Given the description of an element on the screen output the (x, y) to click on. 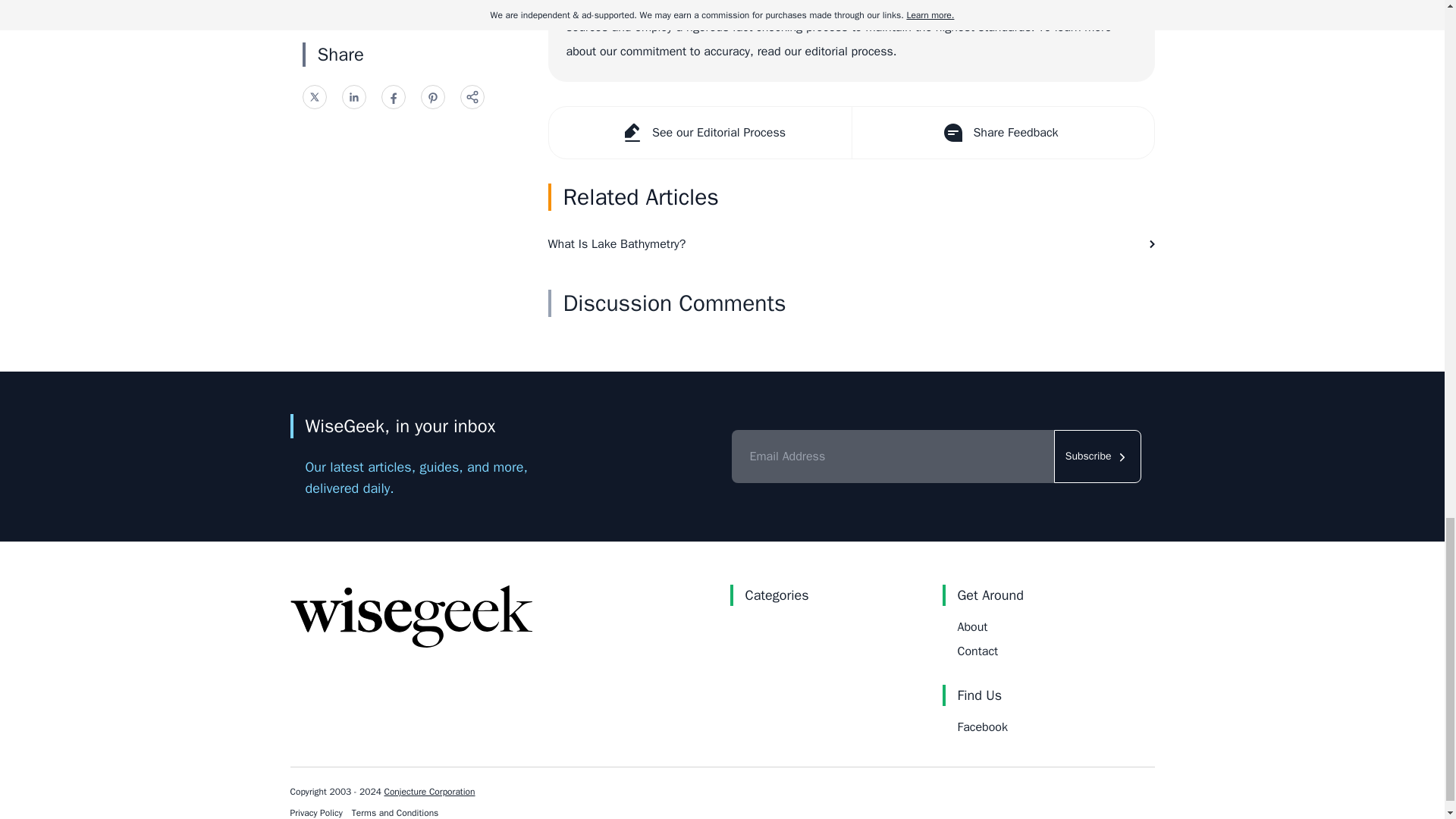
Conjecture Corporation (429, 791)
Subscribe (1097, 456)
About (971, 626)
See our Editorial Process (699, 132)
Facebook (981, 726)
Share Feedback (1001, 132)
Contact (976, 651)
What Is Lake Bathymetry? (850, 243)
